Given the description of an element on the screen output the (x, y) to click on. 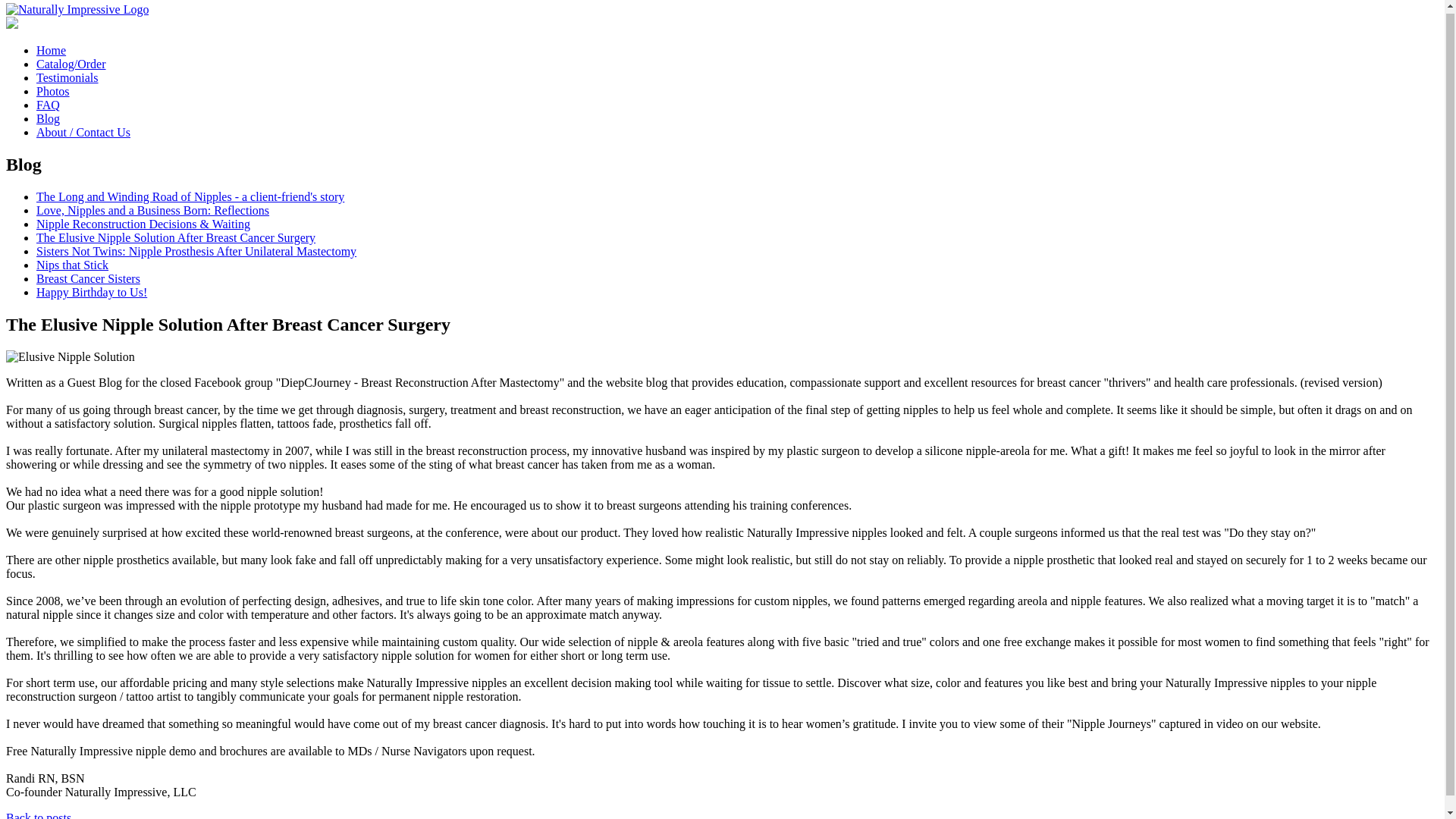
Photos (52, 91)
The Elusive Nipple Solution After Breast Cancer Surgery (175, 237)
Home (50, 50)
FAQ (47, 104)
Testimonials (67, 77)
Blog (47, 118)
Love, Nipples and a Business Born: Reflections (152, 210)
Nips that Stick (71, 264)
Breast Cancer Sisters (87, 278)
Happy Birthday to Us! (91, 291)
